Given the description of an element on the screen output the (x, y) to click on. 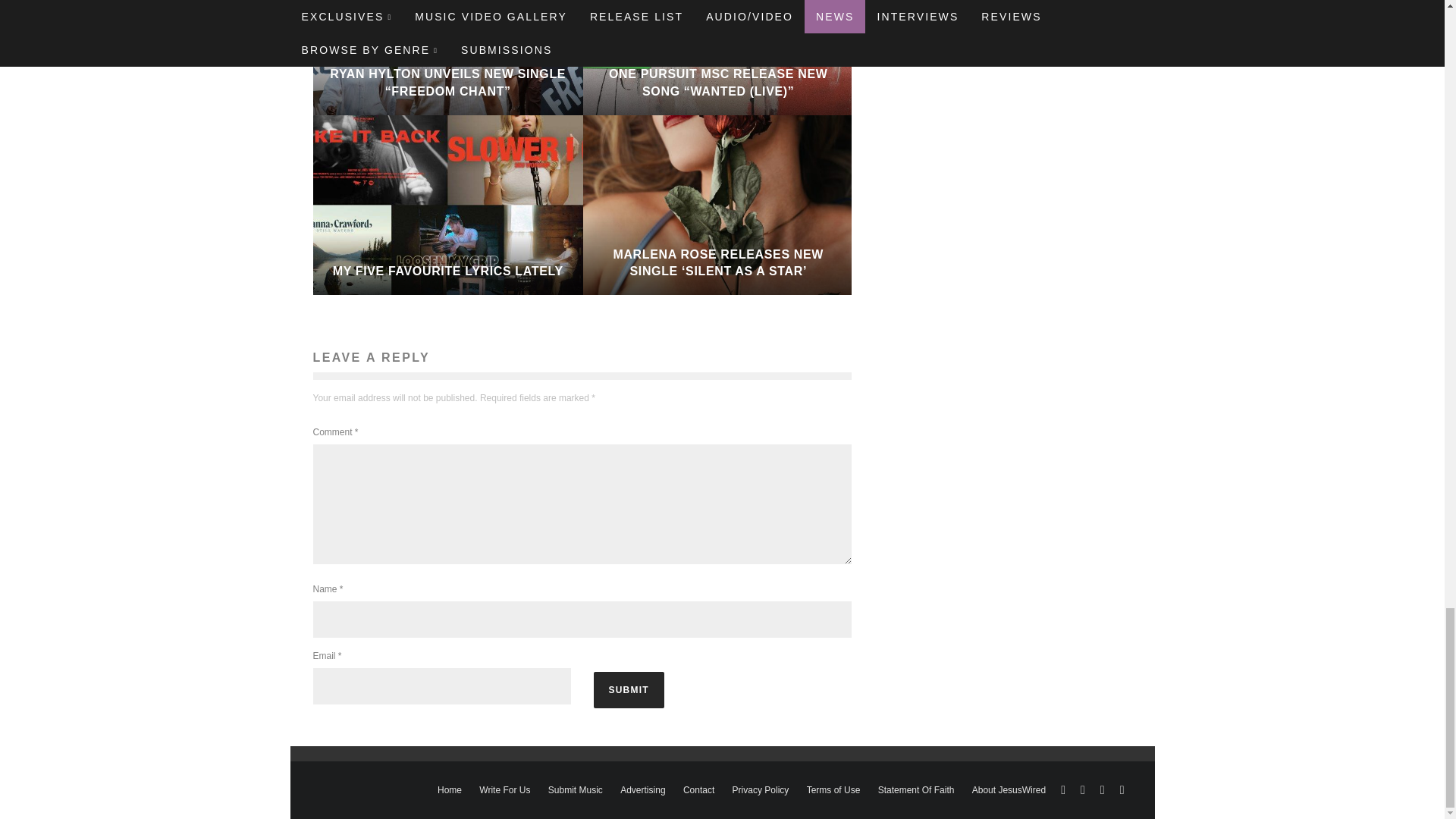
Submit (627, 689)
